Given the description of an element on the screen output the (x, y) to click on. 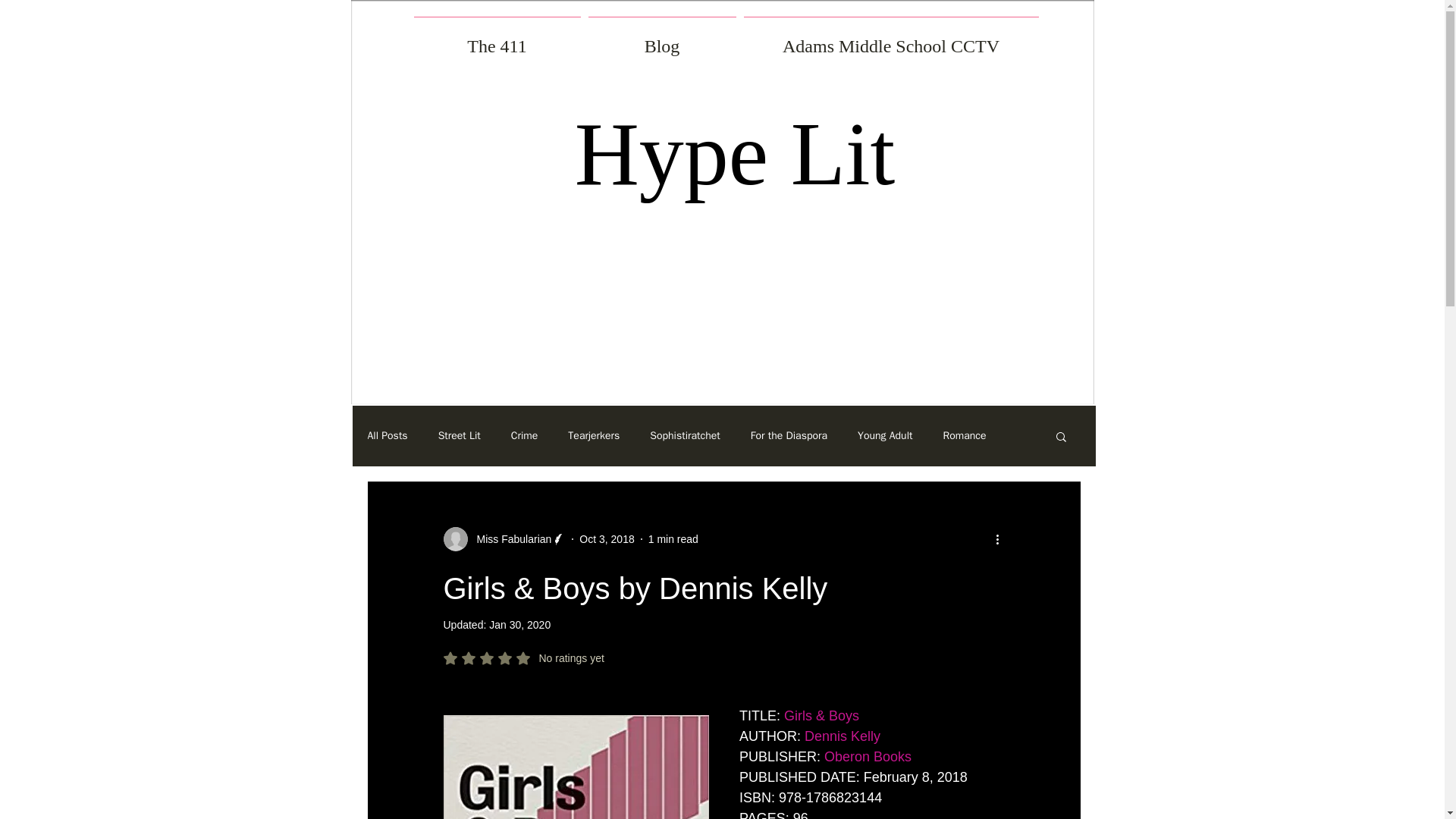
Hype Lit (735, 153)
Miss Fabularian (504, 539)
All Posts (386, 436)
Crime (524, 436)
Jan 30, 2020 (519, 624)
1 min read (672, 538)
Oct 3, 2018 (606, 538)
Street Lit (459, 436)
Adams Middle School CCTV (890, 39)
Miss Fabularian (509, 538)
The 411 (496, 39)
Oberon Books (867, 756)
Tearjerkers (593, 436)
Twitter Follow (869, 376)
Young Adult (884, 436)
